Given the description of an element on the screen output the (x, y) to click on. 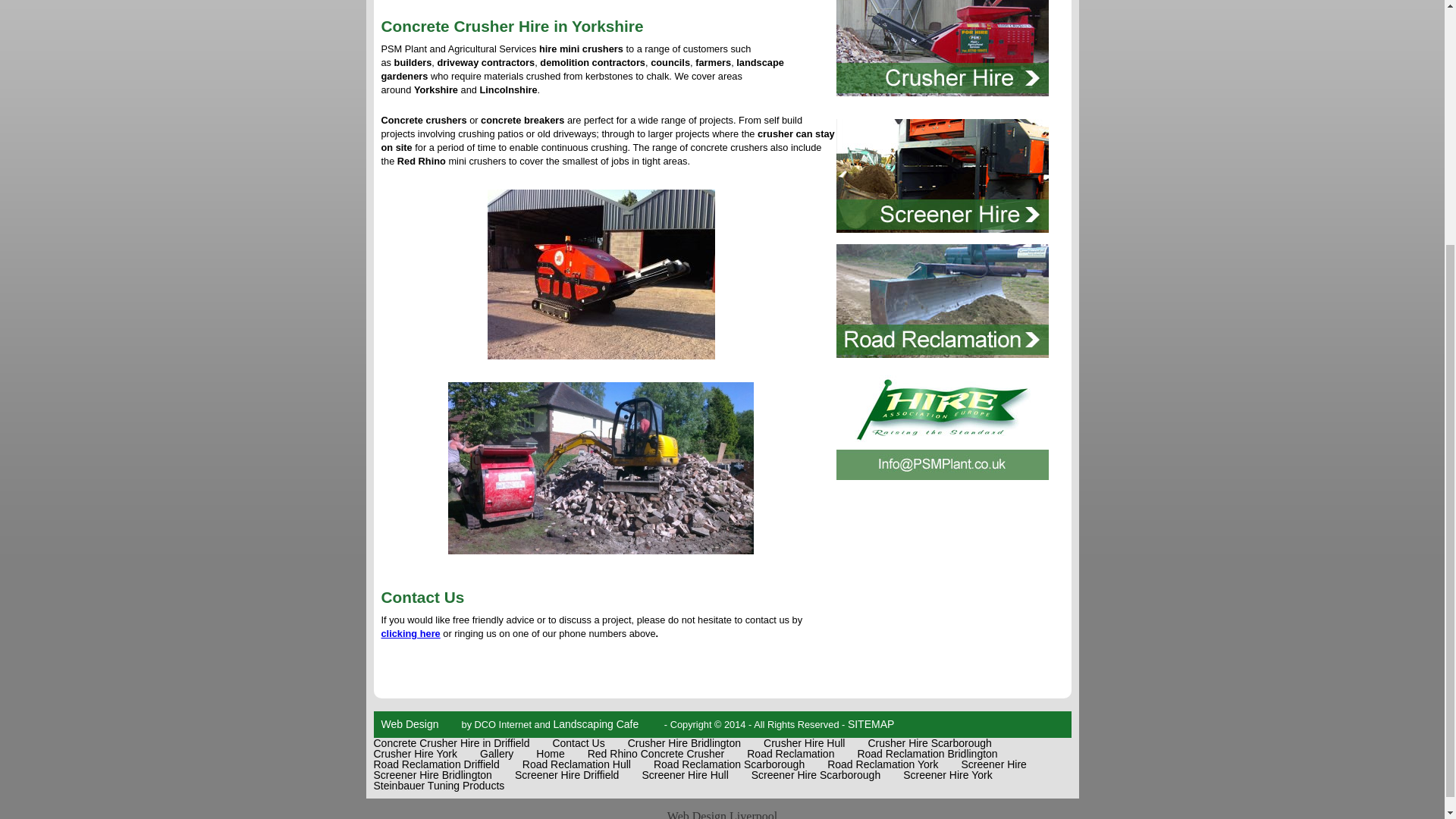
Red Rhino Concrete Crusher (656, 753)
Crusher Hire York (414, 753)
Landscaping Cafe (596, 724)
Concrete Crusher Hire in Driffield (450, 742)
Gallery (496, 753)
Screener Hire Hull (685, 774)
Road Reclamation Scarborough (729, 764)
Screener Hire Driffield (566, 774)
Crusher Hire Scarborough (929, 742)
Crusher Hire Bridlington (684, 742)
SITEMAP (870, 724)
Home (549, 753)
clicking here (409, 633)
Steinbauer Tuning Products (437, 785)
Contact Us (577, 742)
